Given the description of an element on the screen output the (x, y) to click on. 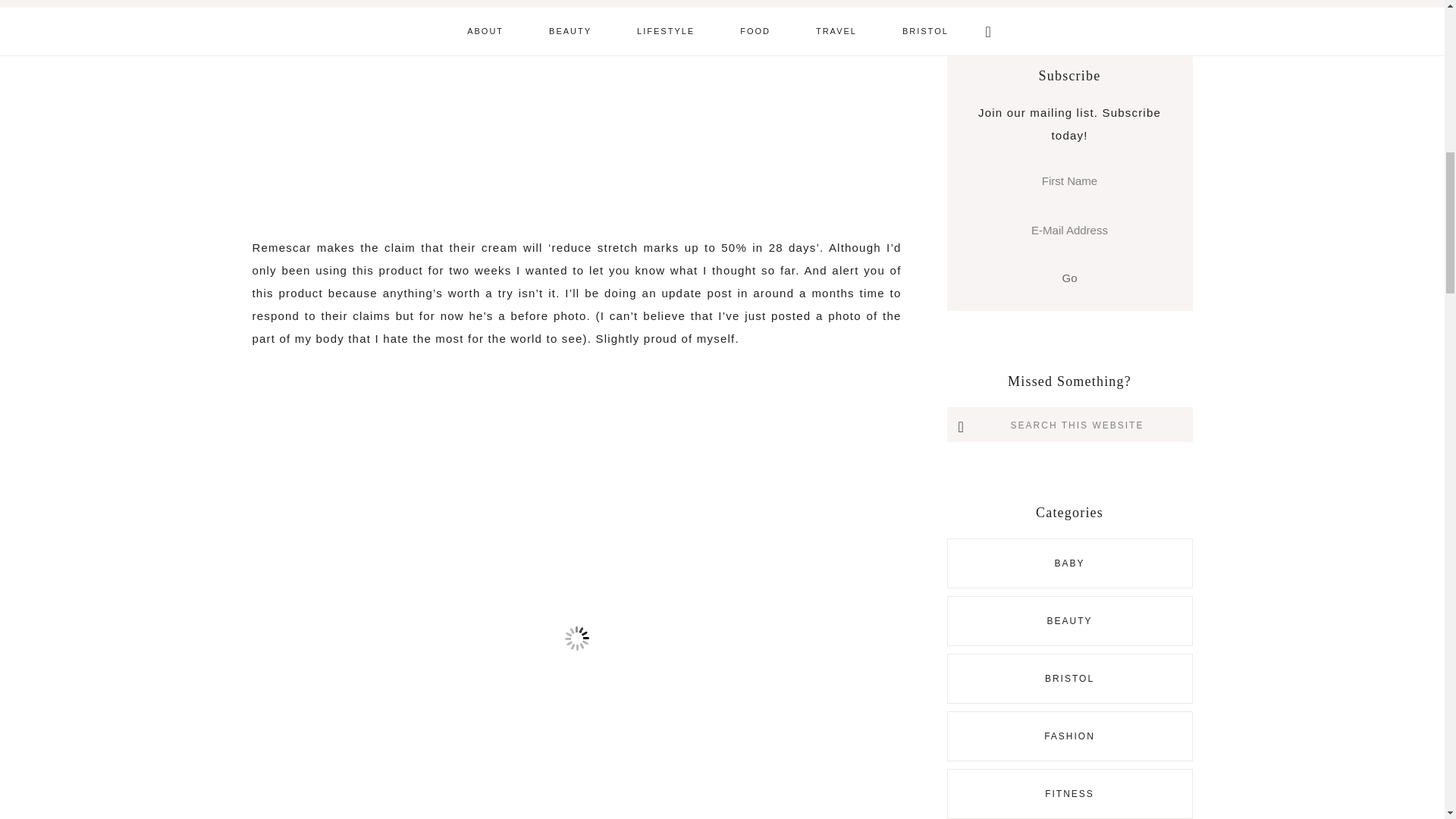
Remescar Stretch Marks (575, 84)
Go (1068, 278)
BABY (1069, 563)
BEAUTY (1069, 621)
Go (1068, 278)
BRISTOL (1069, 678)
